Given the description of an element on the screen output the (x, y) to click on. 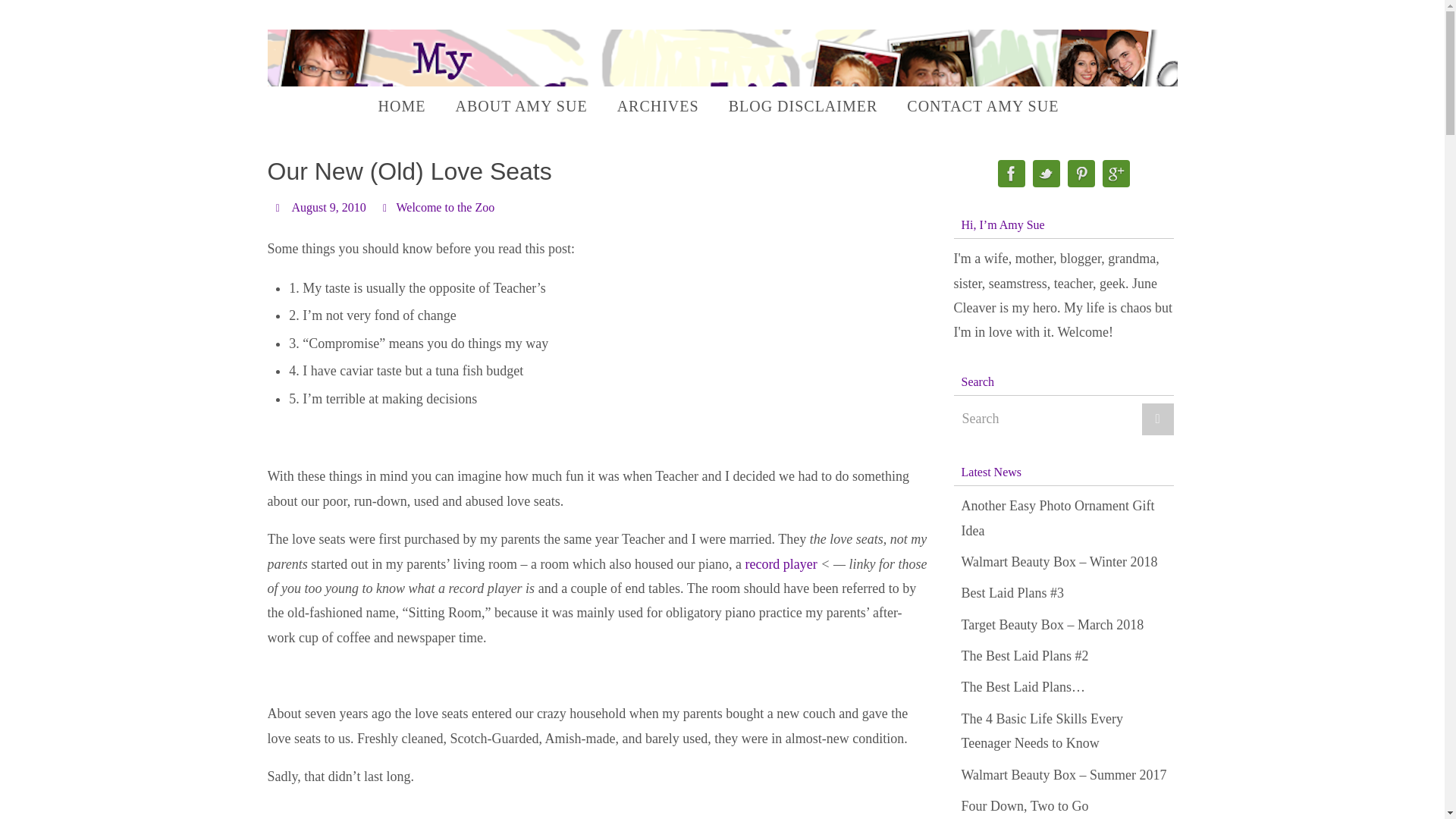
August 9, 2010 (328, 207)
Date (278, 206)
Welcome to the Zoo (445, 207)
record player (780, 563)
ARCHIVES (658, 106)
Categories (386, 206)
The 4 Basic Life Skills Every Teenager Needs to Know (1041, 731)
Search (1063, 418)
Pinterest (1080, 173)
BLOG DISCLAIMER (802, 106)
